Given the description of an element on the screen output the (x, y) to click on. 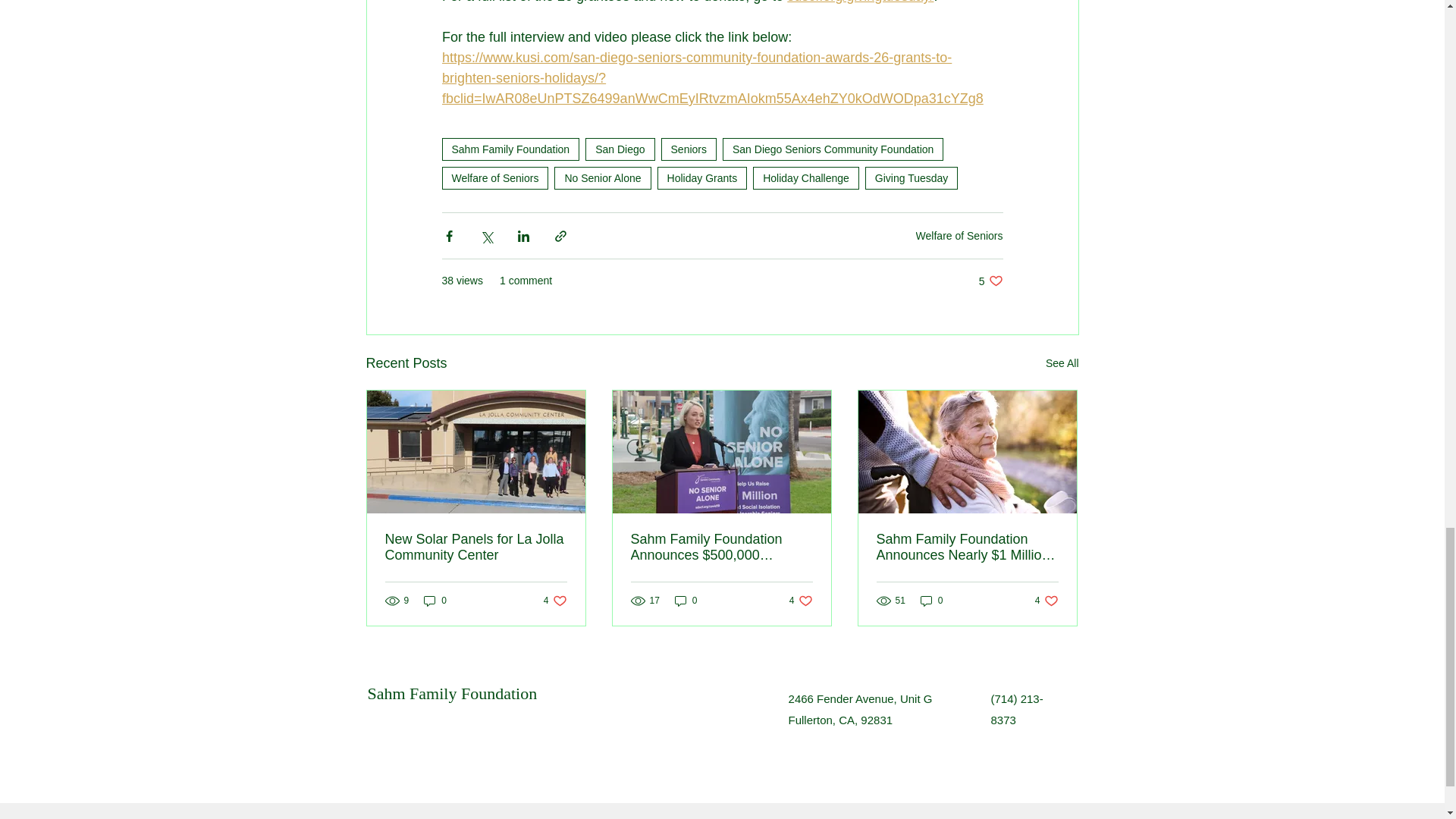
Holiday Challenge (805, 178)
Holiday Grants (703, 178)
San Diego Seniors Community Foundation (832, 149)
Sahm Family Foundation (510, 149)
No Senior Alone (602, 178)
Welfare of Seniors (494, 178)
Giving Tuesday (911, 178)
San Diego (619, 149)
Seniors (688, 149)
